Given the description of an element on the screen output the (x, y) to click on. 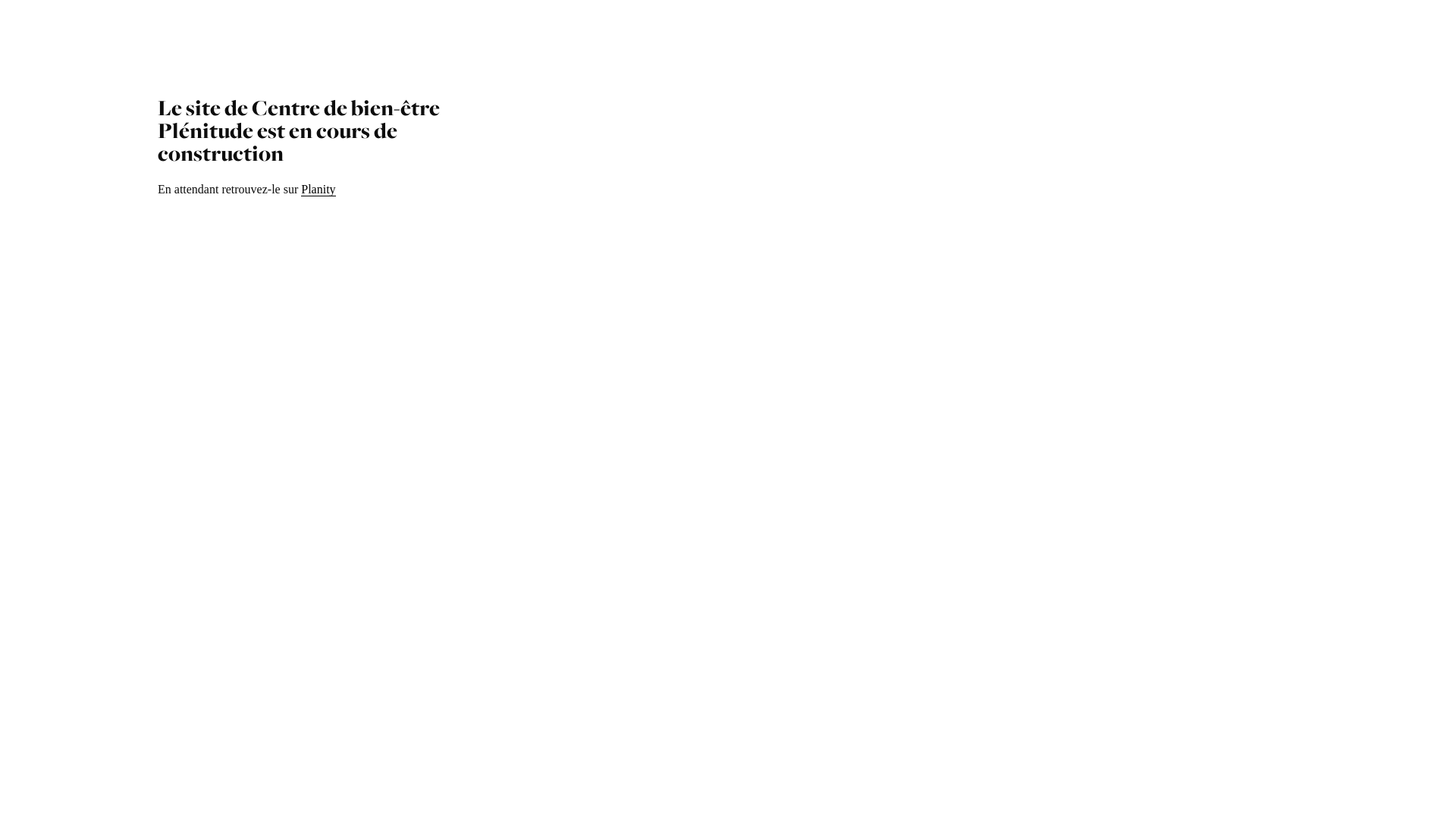
Planity Element type: text (318, 189)
